Given the description of an element on the screen output the (x, y) to click on. 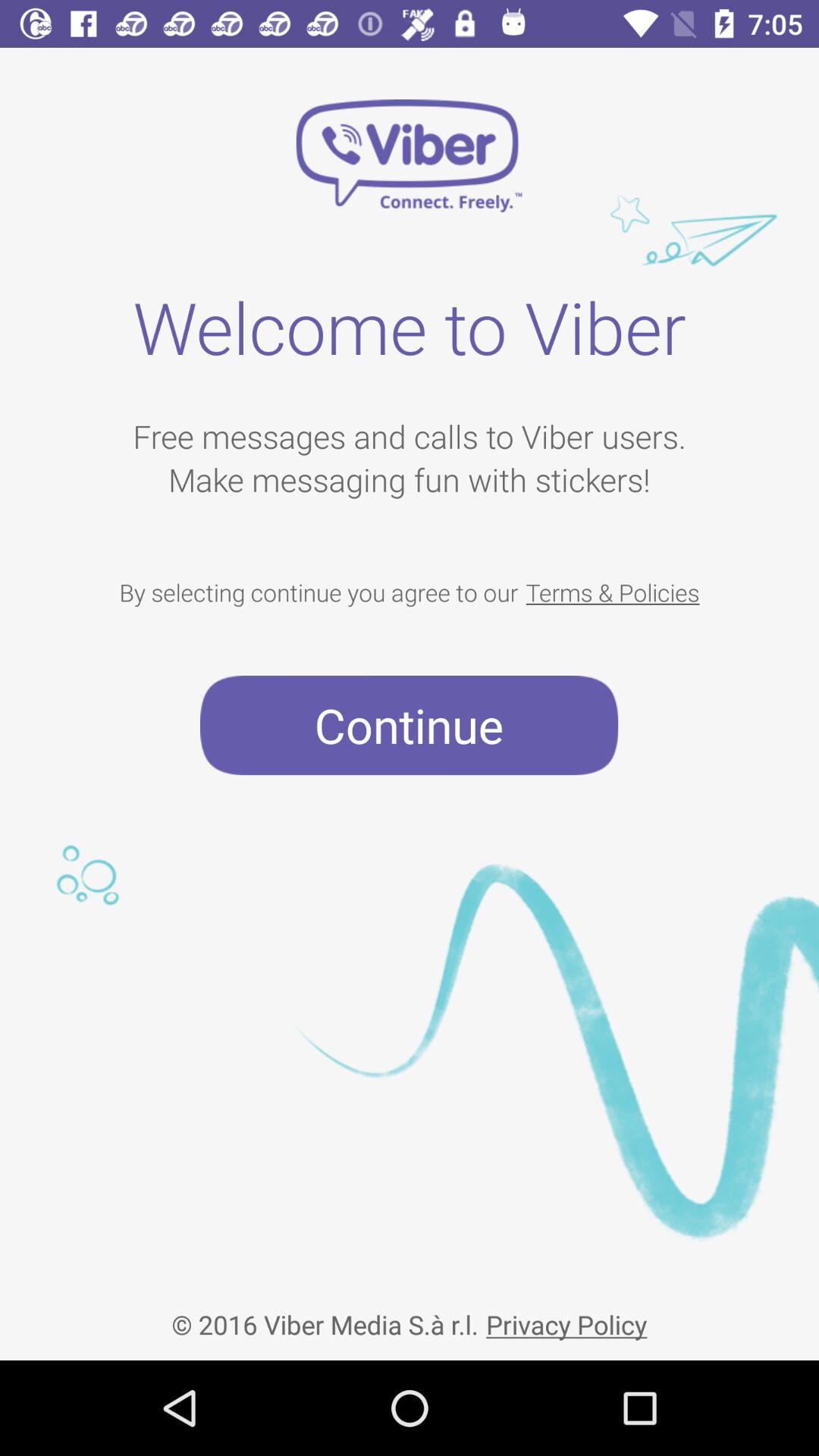
jump to terms & policies item (612, 592)
